Given the description of an element on the screen output the (x, y) to click on. 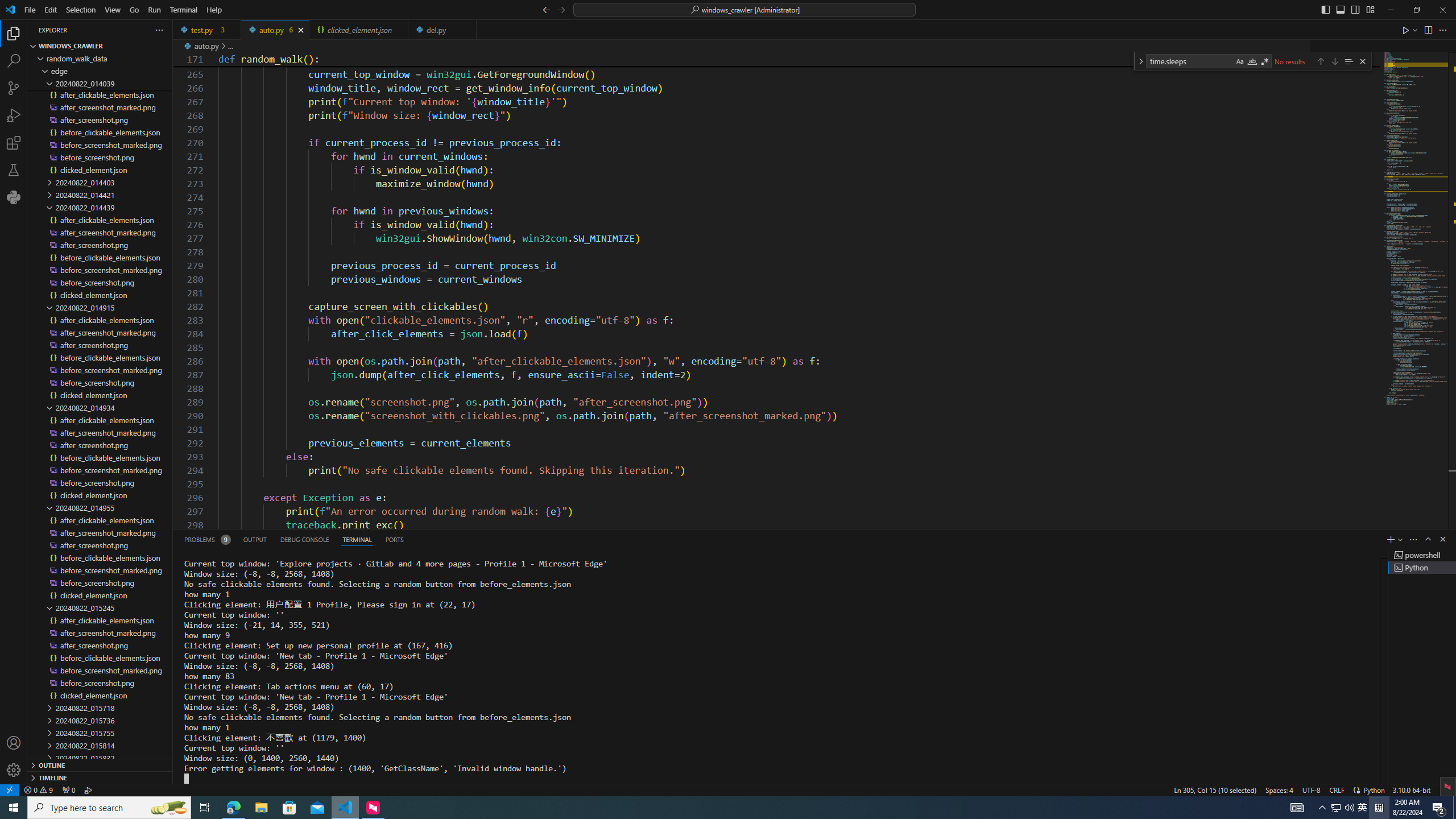
Search (Ctrl+Shift+F) (13, 60)
Explorer (Ctrl+Shift+E) (13, 33)
test.py (207, 29)
Terminal 5 Python (1422, 567)
Timeline Section (99, 777)
Python (13, 197)
Debug:  (88, 789)
remote (9, 789)
Title actions (1347, 9)
CRLF (1336, 789)
Terminal (183, 9)
Accounts (13, 742)
Run or Debug... (1414, 29)
